Given the description of an element on the screen output the (x, y) to click on. 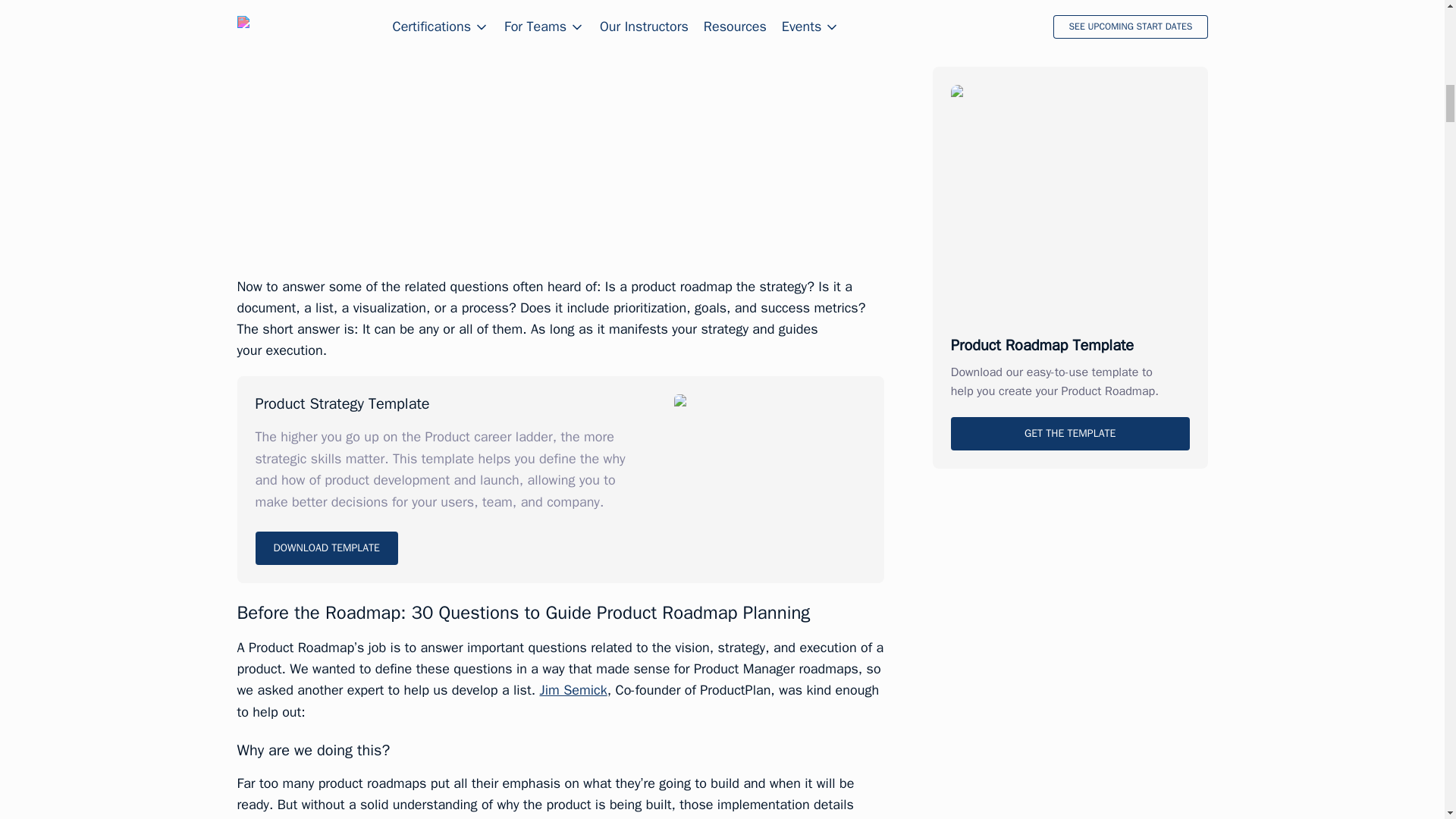
Jim Semick (573, 689)
DOWNLOAD TEMPLATE (325, 548)
Download Template (325, 548)
Jim Semick (573, 689)
